Given the description of an element on the screen output the (x, y) to click on. 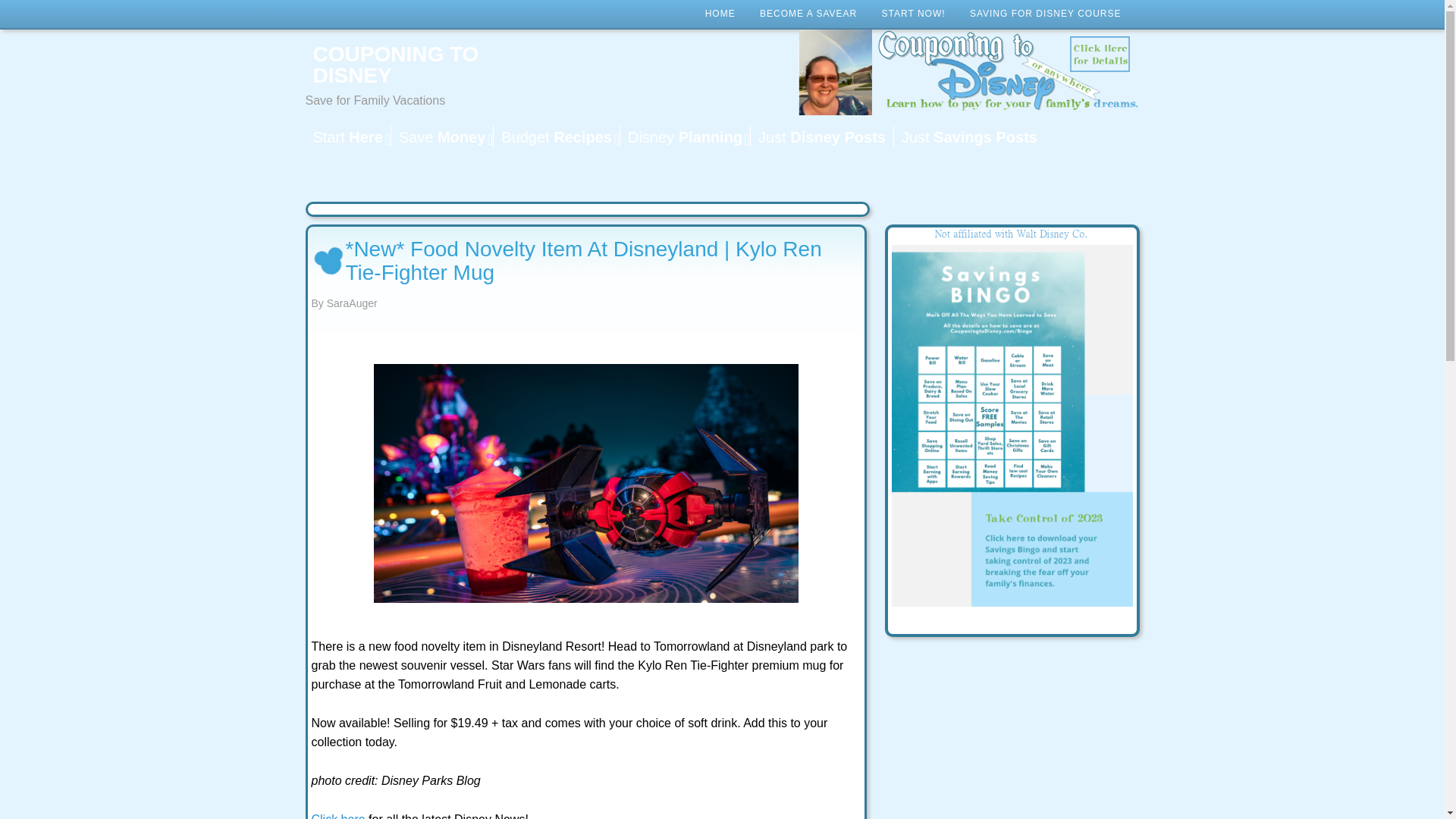
Start Here (347, 136)
START NOW! (913, 13)
BECOME A SAVEAR (808, 13)
Disney Planning (684, 136)
Save Money (441, 136)
SAVING FOR DISNEY COURSE (1045, 13)
HOME (719, 13)
COUPONING TO DISNEY (425, 64)
Budget Recipes (556, 136)
Start Here  (347, 136)
money (441, 136)
